Given the description of an element on the screen output the (x, y) to click on. 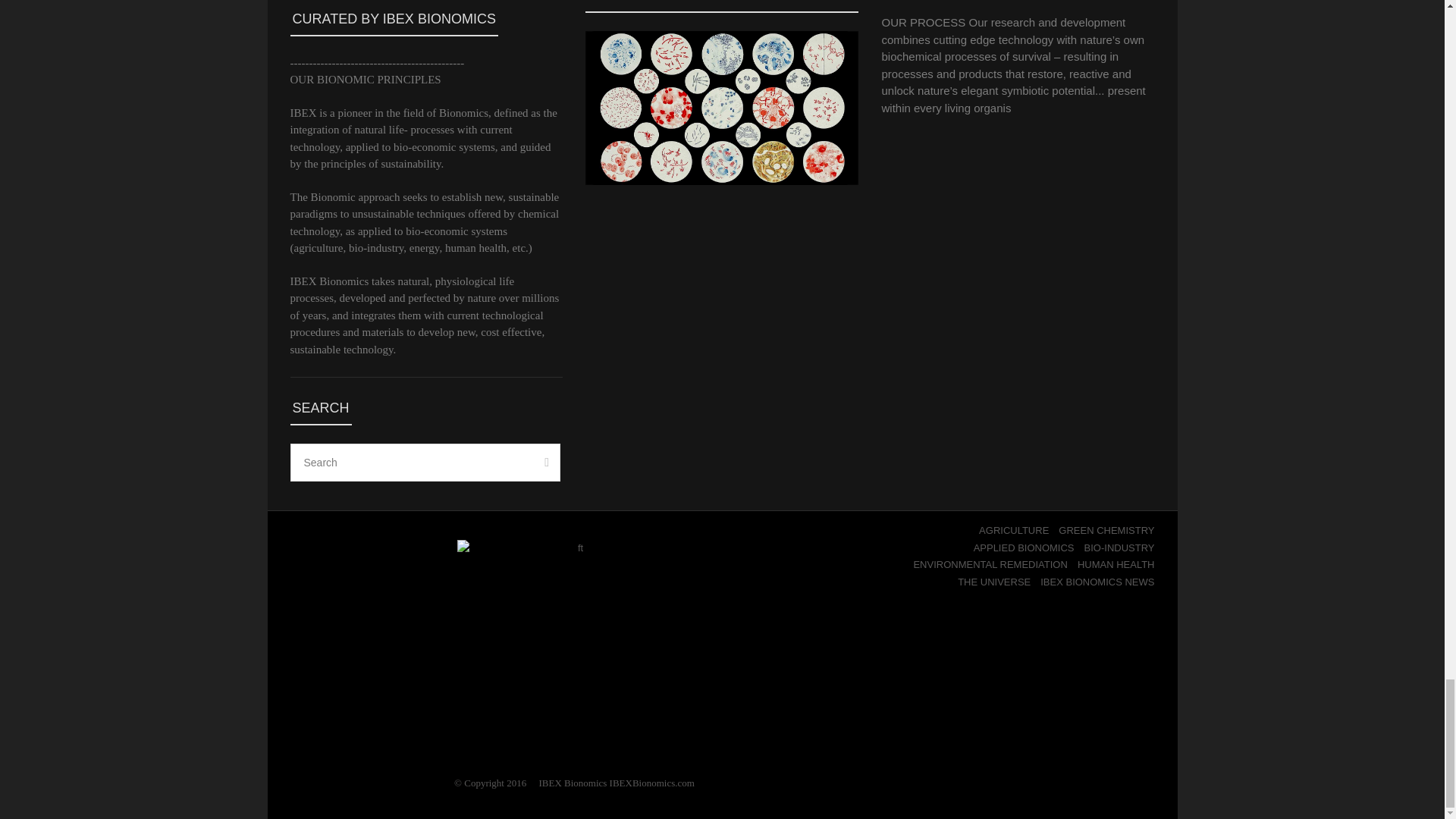
Search (424, 462)
